Given the description of an element on the screen output the (x, y) to click on. 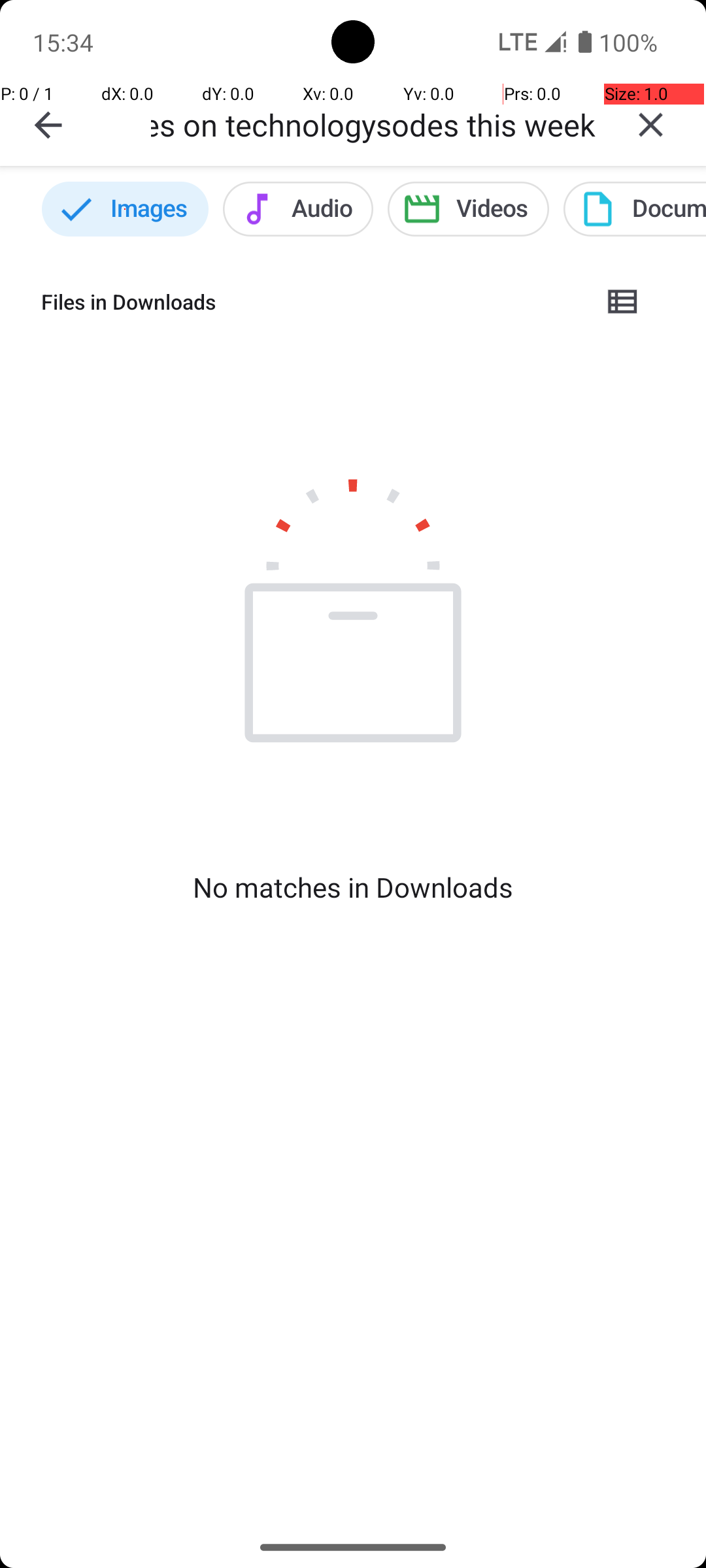
Best podcast epilatest podcast episodes on technologysodes this week Element type: android.widget.AutoCompleteTextView (373, 124)
Clear query Element type: android.widget.ImageView (650, 124)
